Given the description of an element on the screen output the (x, y) to click on. 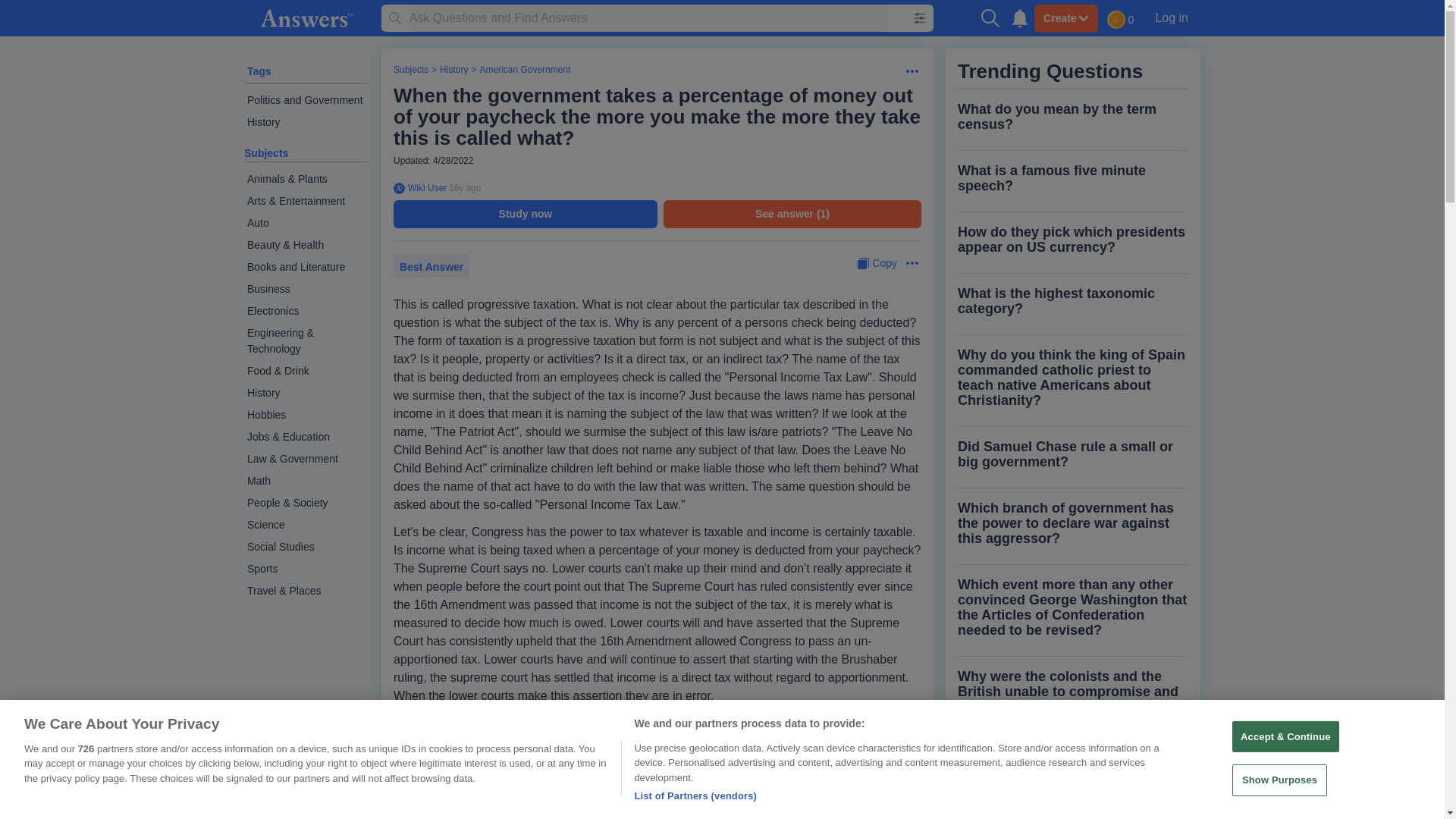
Copy (876, 263)
Create (1065, 18)
History (306, 122)
Books and Literature (306, 267)
Math (306, 481)
Social Studies (306, 546)
Log in (1170, 17)
Subjects (266, 152)
Study now (525, 213)
